Given the description of an element on the screen output the (x, y) to click on. 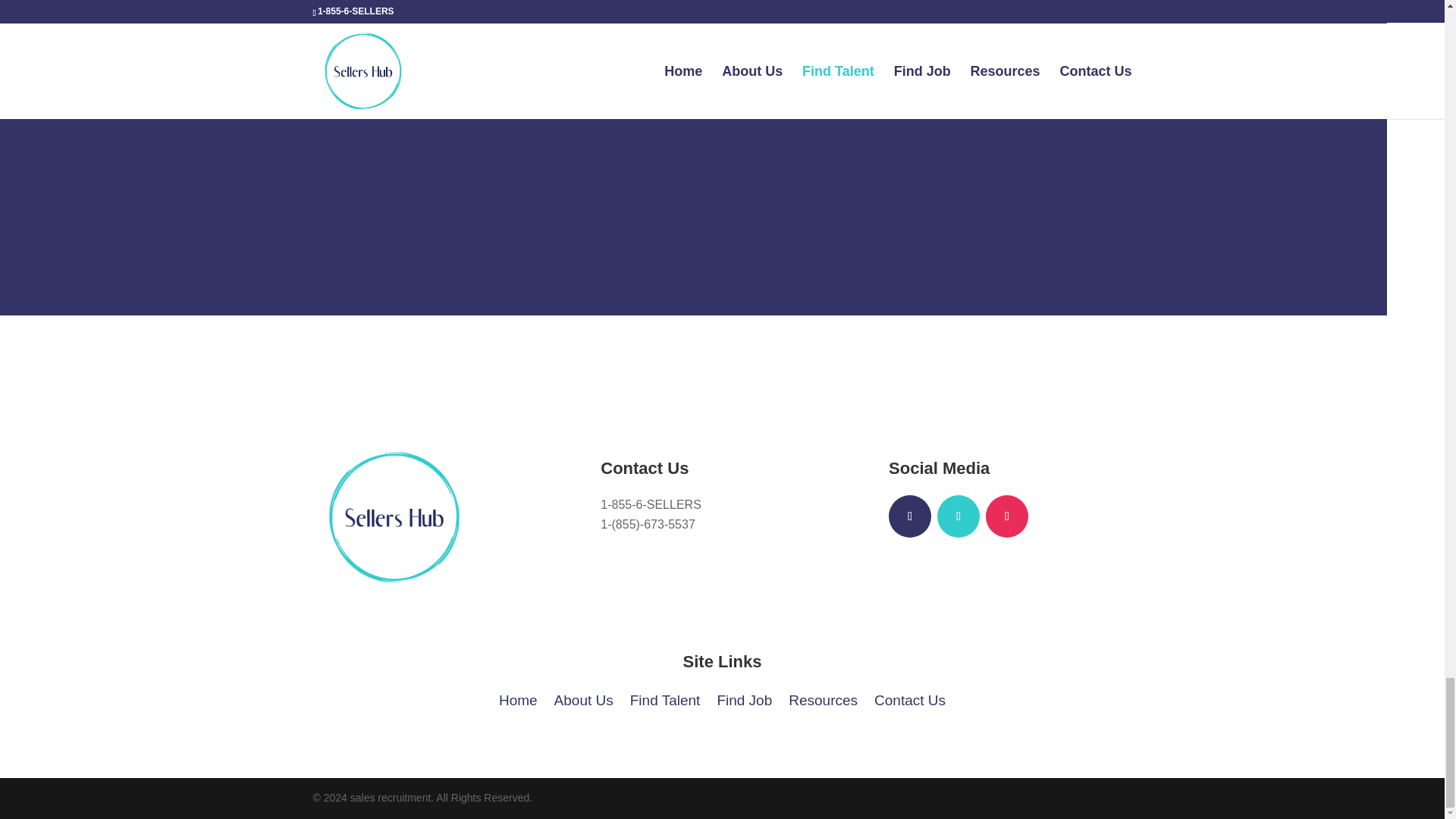
Find Job (743, 697)
Follow on LinkedIn (958, 516)
Resources (823, 697)
Contact Us (909, 697)
Follow on Facebook (909, 516)
sh (394, 516)
Find Talent (665, 697)
About Us (583, 697)
Home (518, 697)
Follow on Instagram (1006, 516)
